Given the description of an element on the screen output the (x, y) to click on. 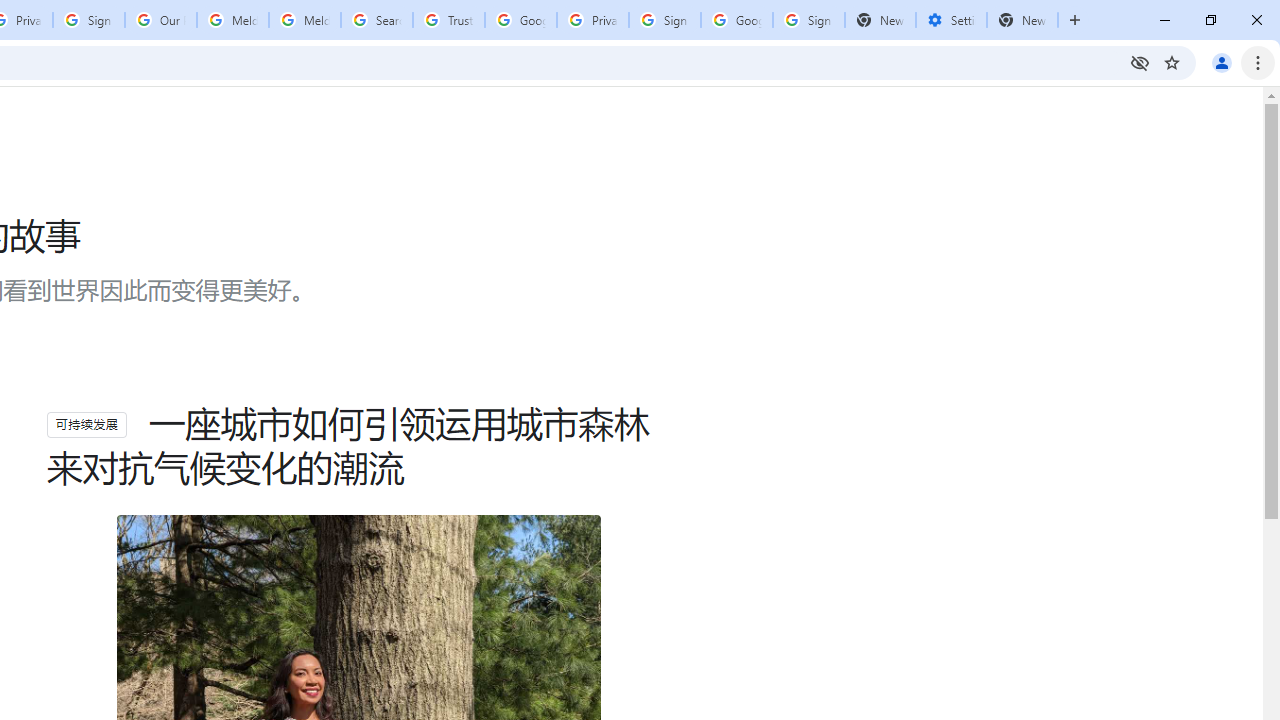
New Tab (1022, 20)
Sign in - Google Accounts (808, 20)
Third-party cookies blocked (1139, 62)
